Given the description of an element on the screen output the (x, y) to click on. 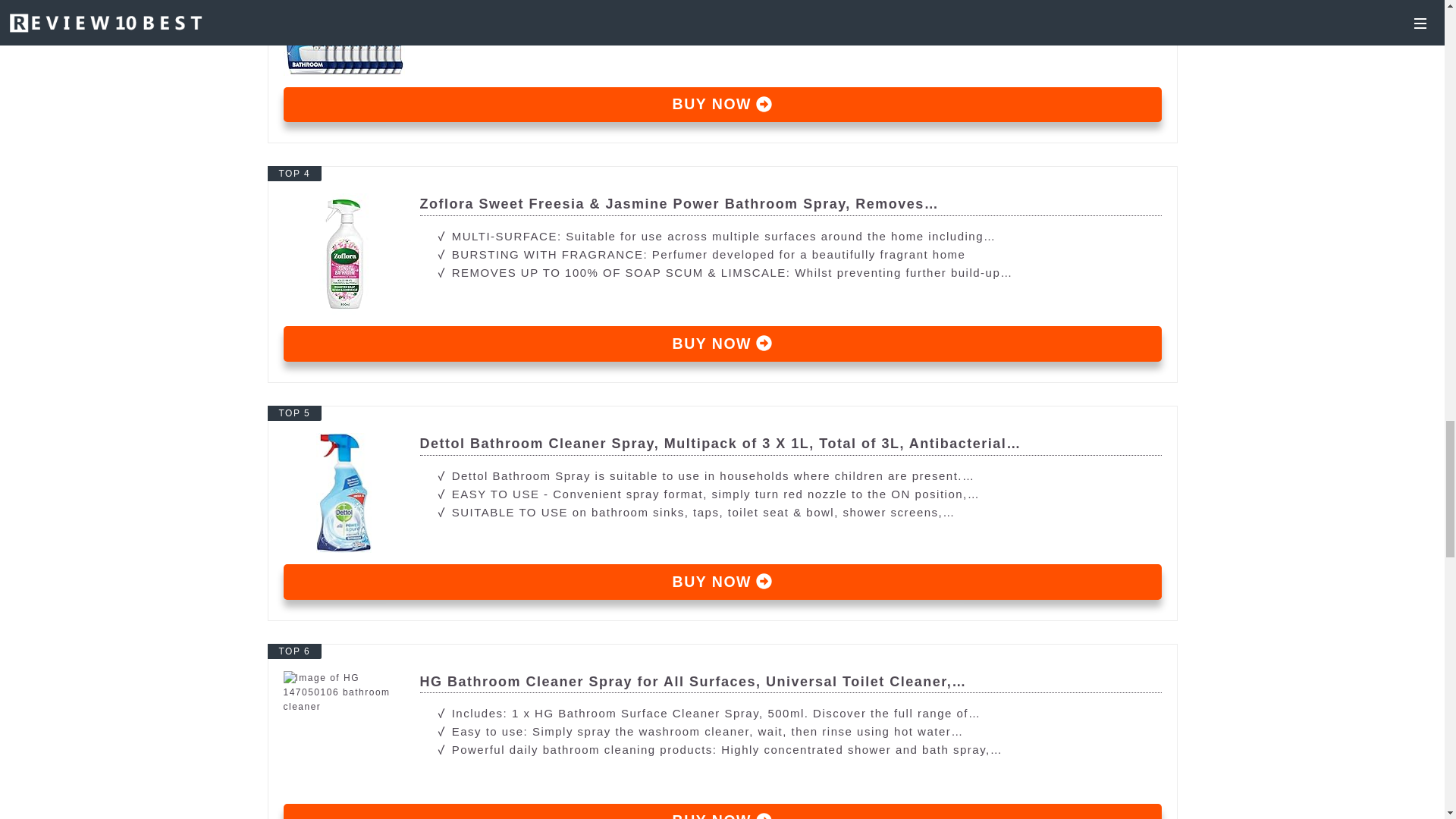
BUY NOW (722, 343)
FLASH 8006540730010 bathroom cleaner (722, 104)
BUY NOW (722, 581)
BUY NOW (722, 811)
Zoflora PRIHOZOF071 bathroom cleaner (722, 204)
BUY NOW (722, 104)
